Given the description of an element on the screen output the (x, y) to click on. 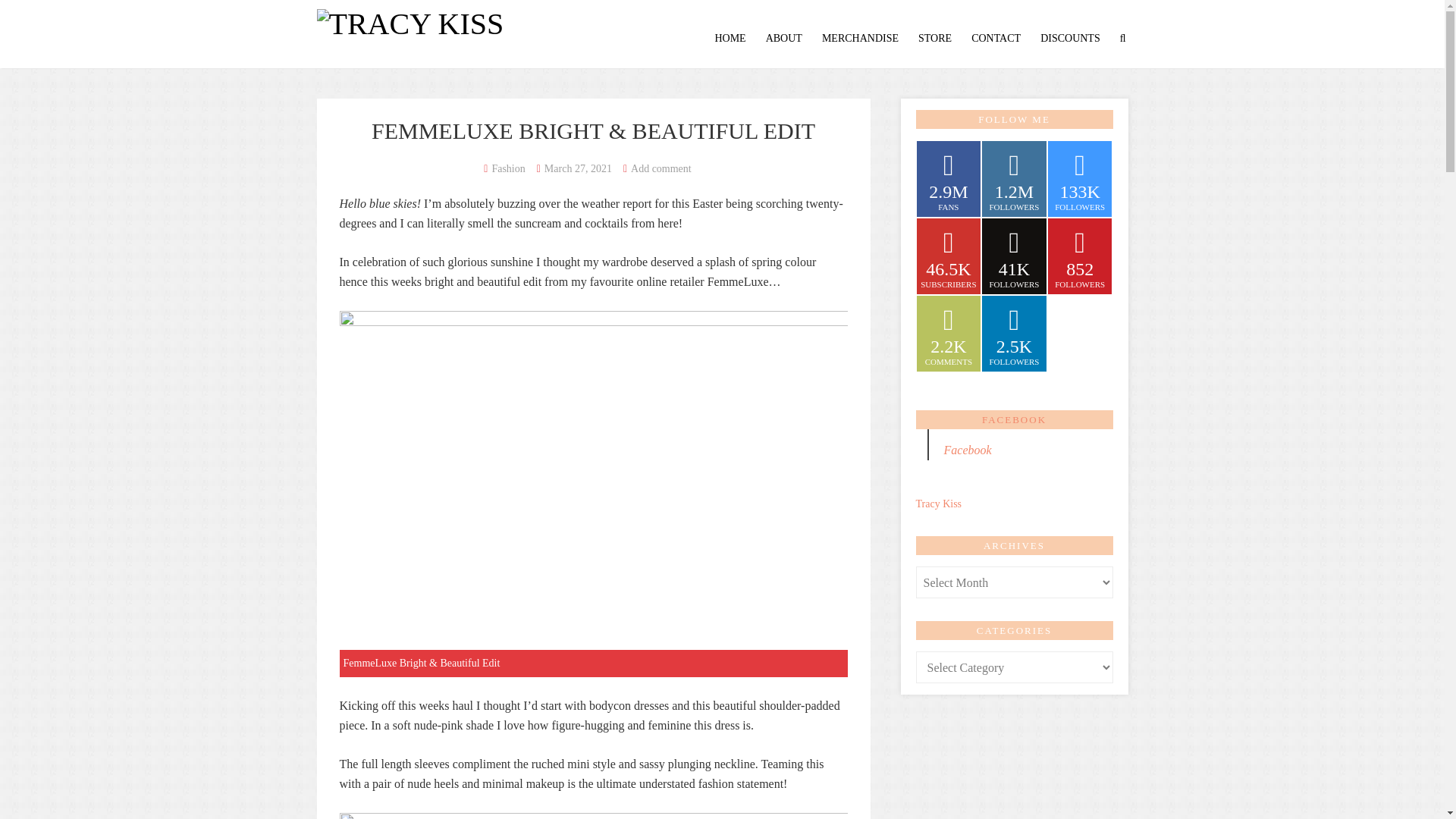
bodycon dresses (628, 705)
Tracy Kiss (410, 20)
Fashion (508, 168)
MERCHANDISE (860, 38)
Add comment (660, 168)
